Given the description of an element on the screen output the (x, y) to click on. 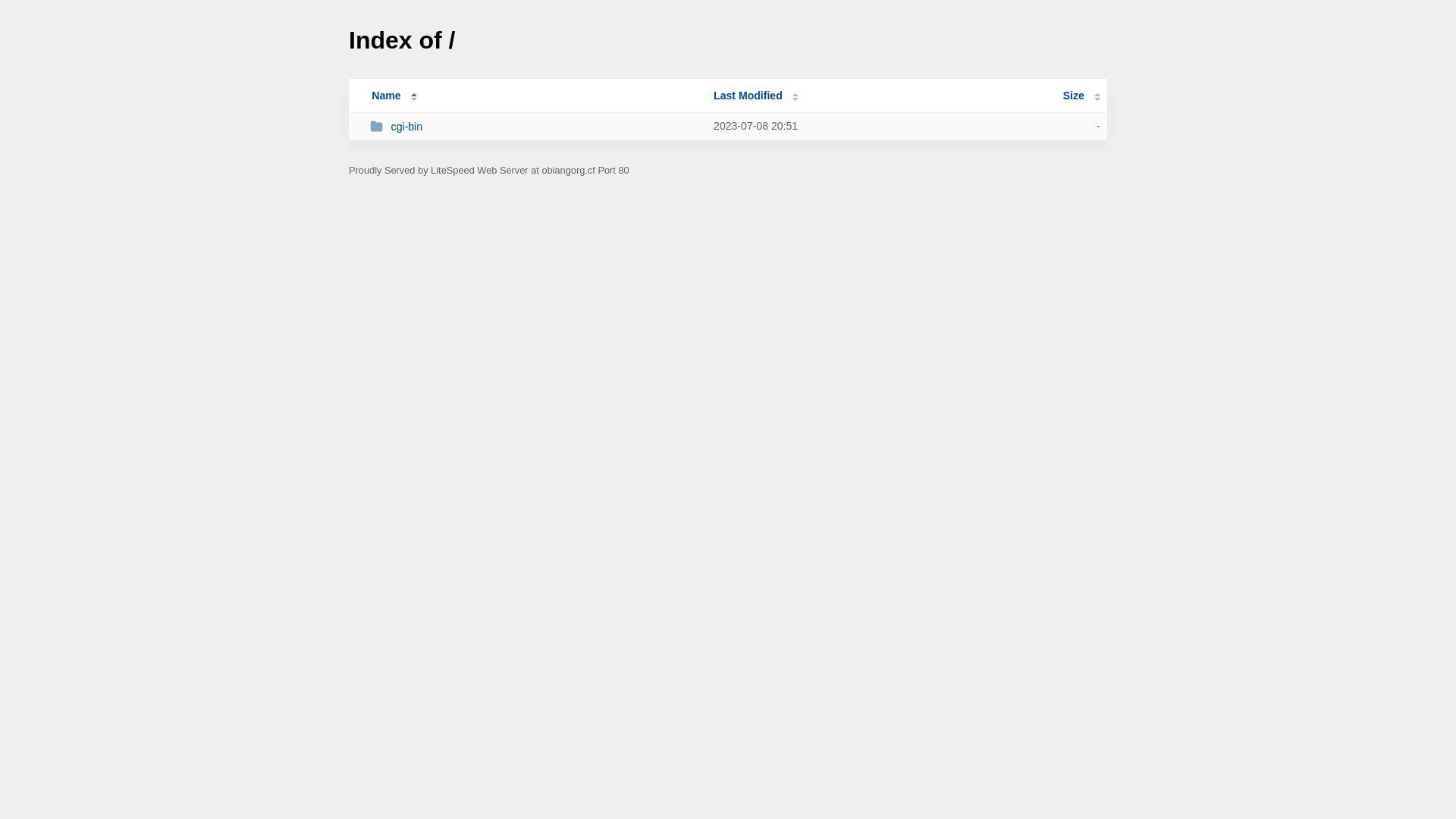
Last Modified Element type: text (755, 95)
cgi-bin Element type: text (534, 125)
Size Element type: text (1081, 95)
Name Element type: text (385, 95)
